Given the description of an element on the screen output the (x, y) to click on. 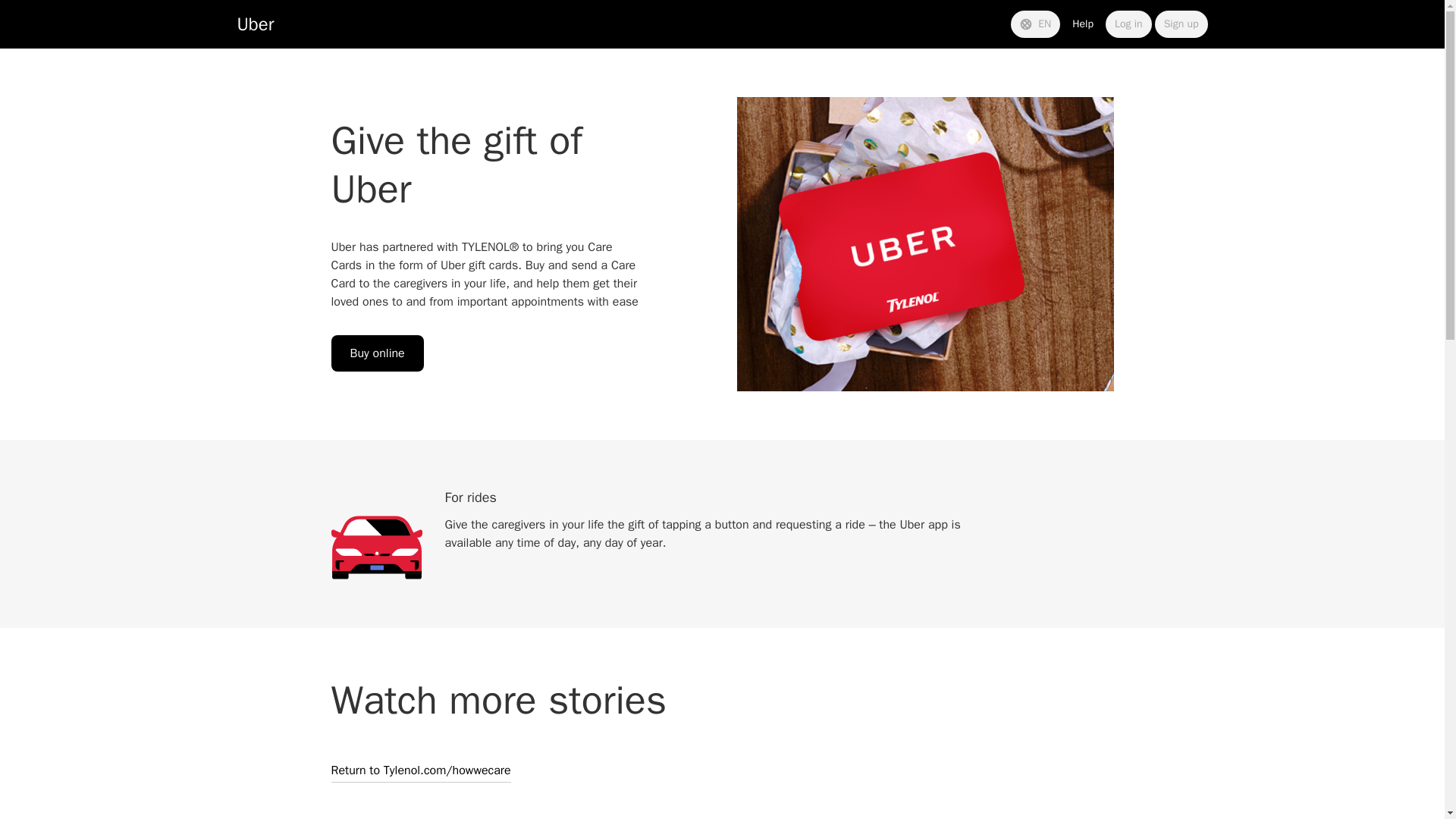
Help (1082, 23)
Log in (1128, 23)
Uber (254, 24)
Buy online (376, 352)
Sign up (1181, 23)
EN (1034, 23)
